Given the description of an element on the screen output the (x, y) to click on. 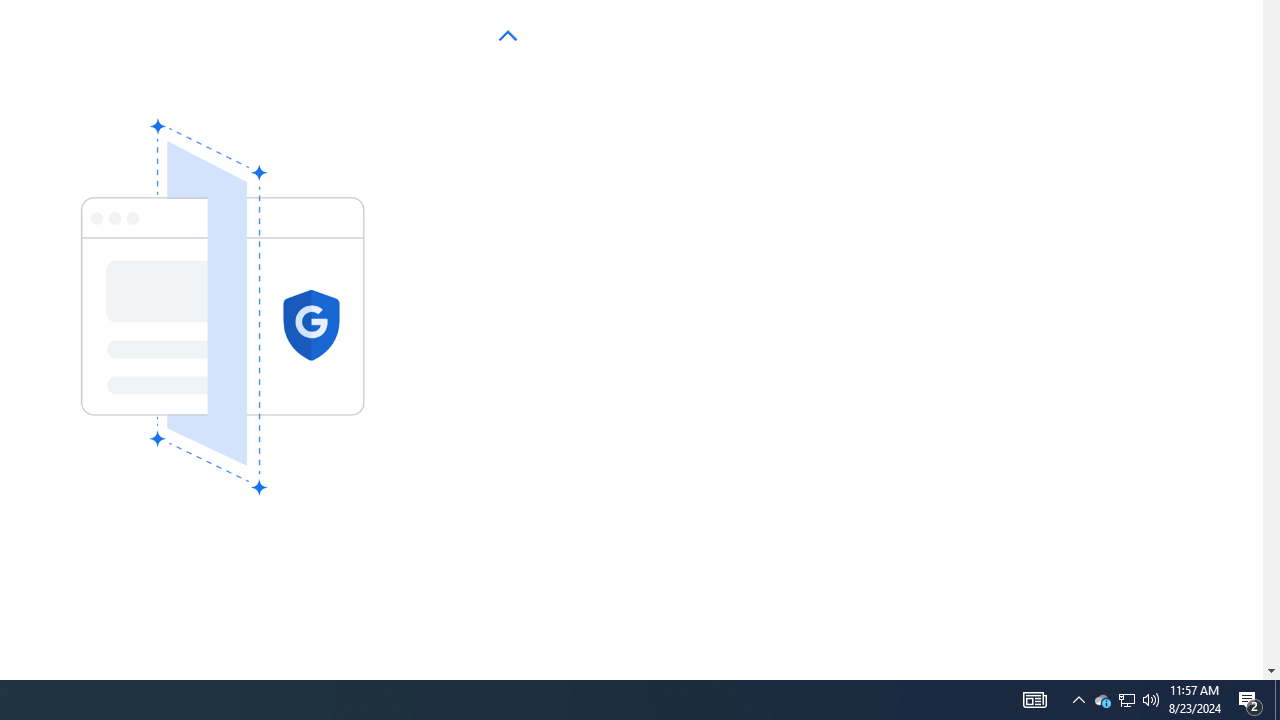
Notification Chevron (1078, 699)
Action Center, 2 new notifications (1126, 699)
Q2790: 100% (1250, 699)
User Promoted Notification Area (1151, 699)
AutomationID: 4105 (1126, 699)
Show desktop (1034, 699)
